Given the description of an element on the screen output the (x, y) to click on. 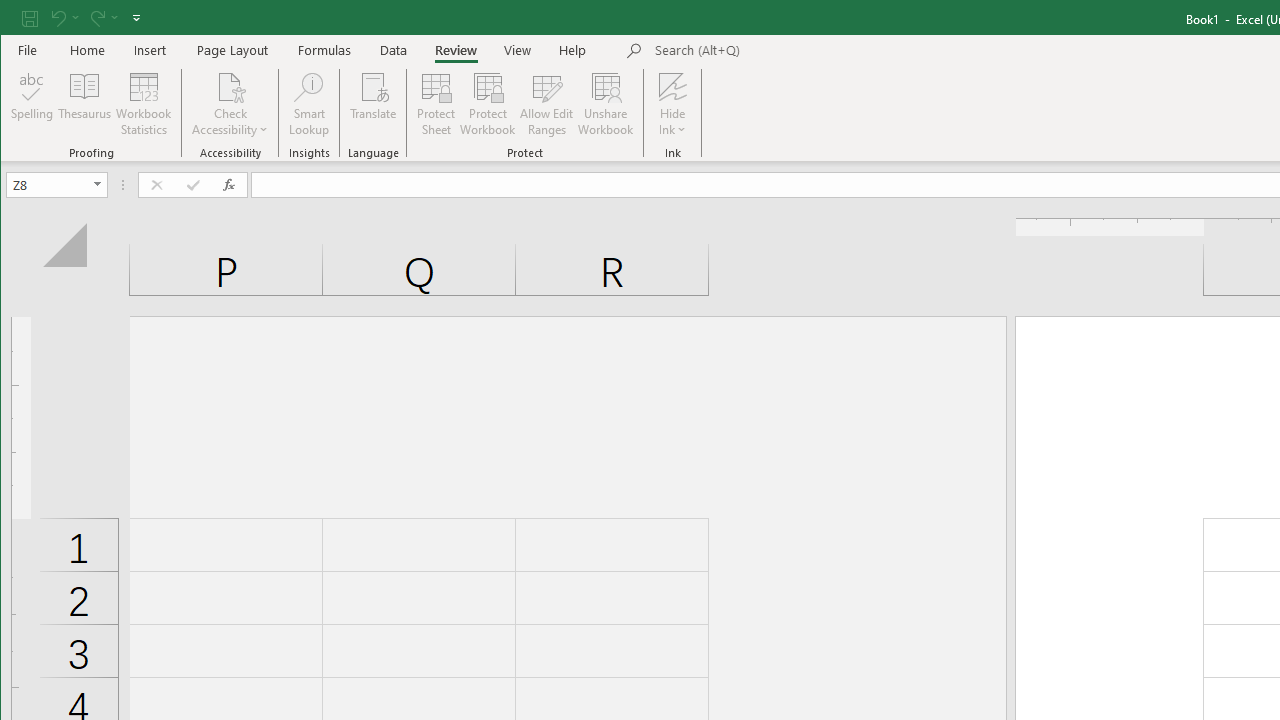
Allow Edit Ranges (547, 104)
Hide Ink (672, 86)
Quick Access Toolbar (83, 17)
File Tab (28, 49)
Data (394, 50)
Name Box (48, 184)
Name Box (56, 184)
Redo (102, 17)
Redo (96, 17)
Insert (150, 50)
Save (29, 17)
Protect Workbook... (488, 104)
Page Layout (231, 50)
Open (98, 184)
Undo (63, 17)
